Given the description of an element on the screen output the (x, y) to click on. 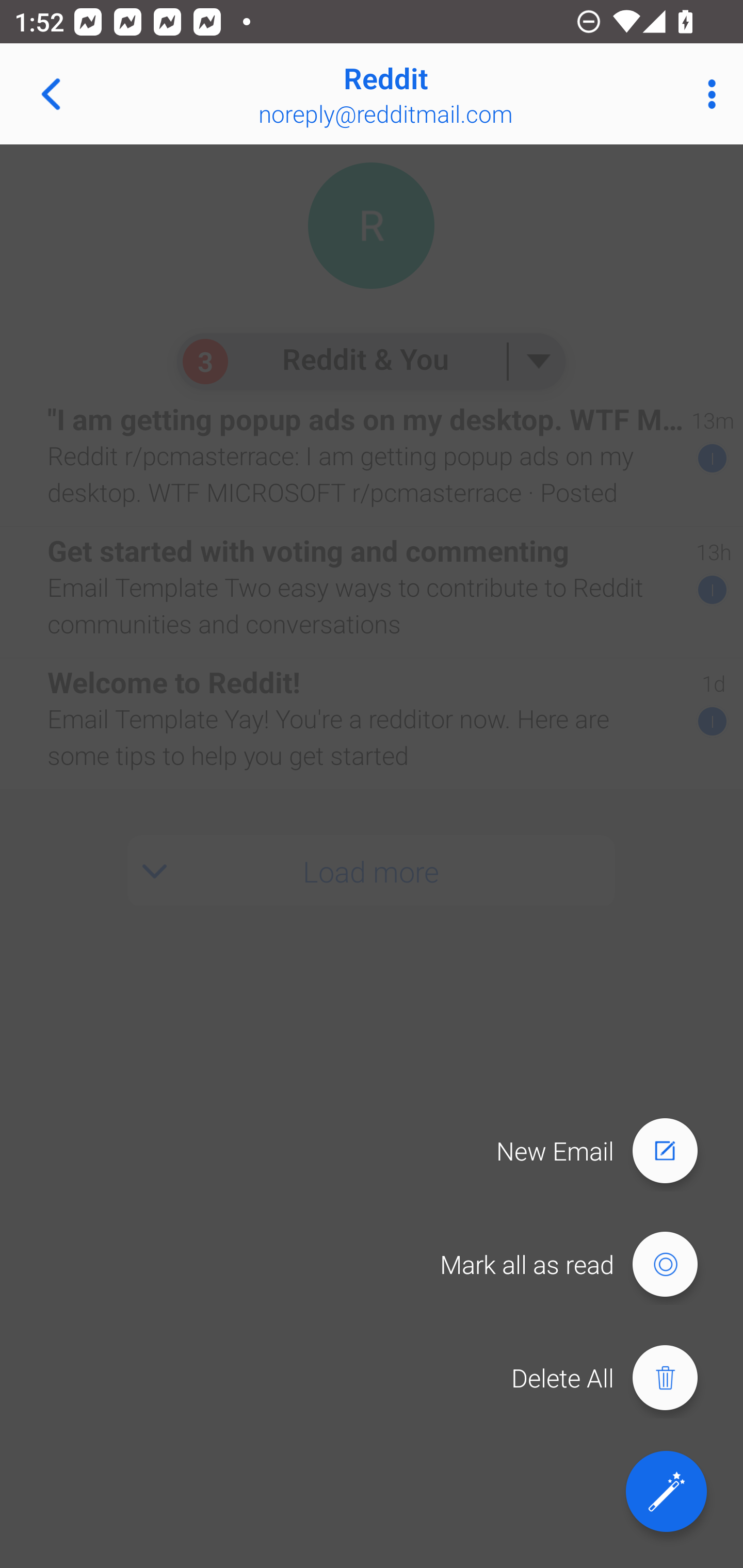
Navigate up (50, 93)
Reddit noreply@redditmail.com (436, 93)
More Options (706, 93)
New Email (606, 1150)
Mark all as read (577, 1264)
Delete All (613, 1378)
